Given the description of an element on the screen output the (x, y) to click on. 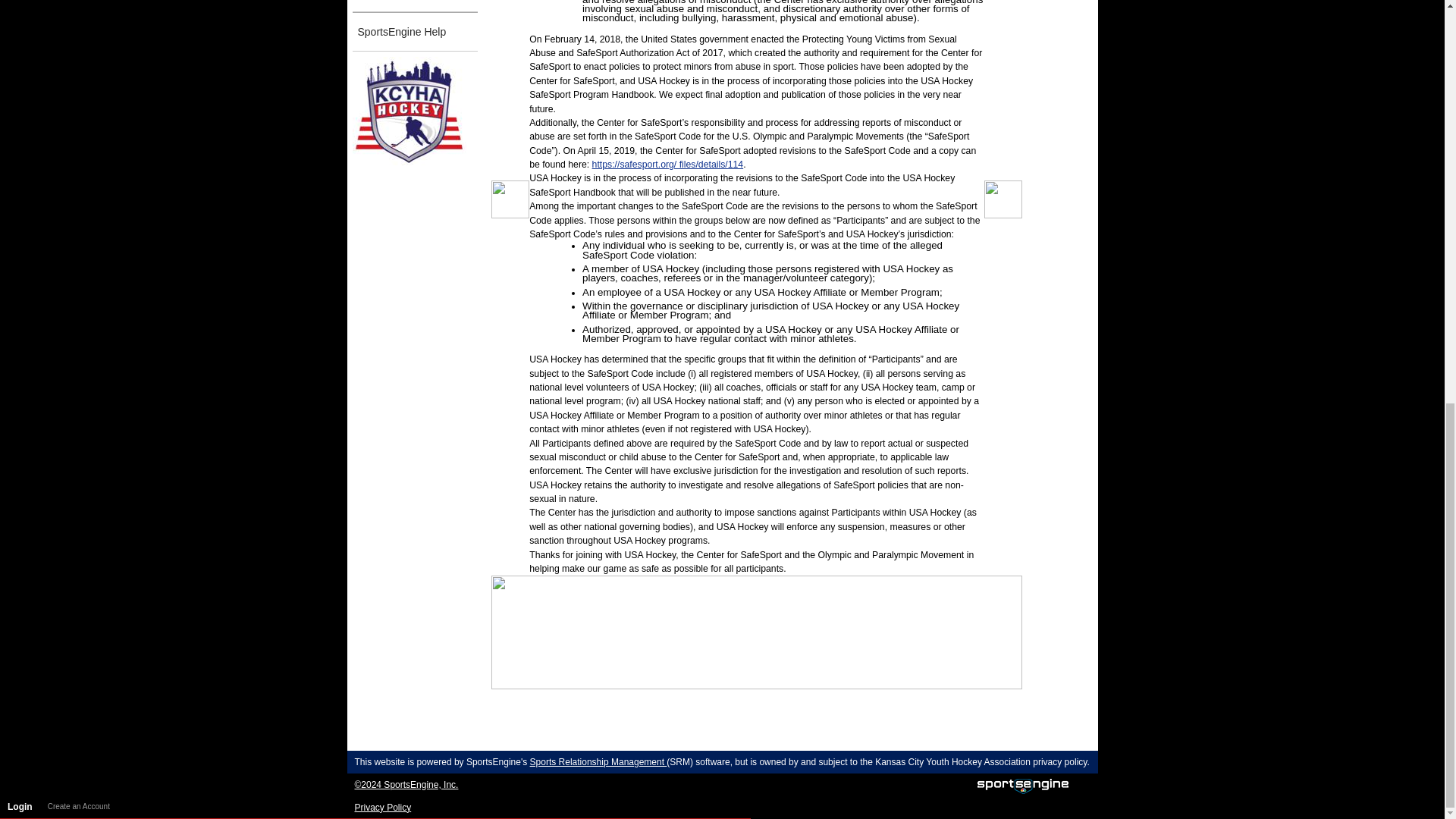
Login (20, 11)
Login (20, 11)
Create an Account (78, 11)
Create an Account (78, 11)
